Given the description of an element on the screen output the (x, y) to click on. 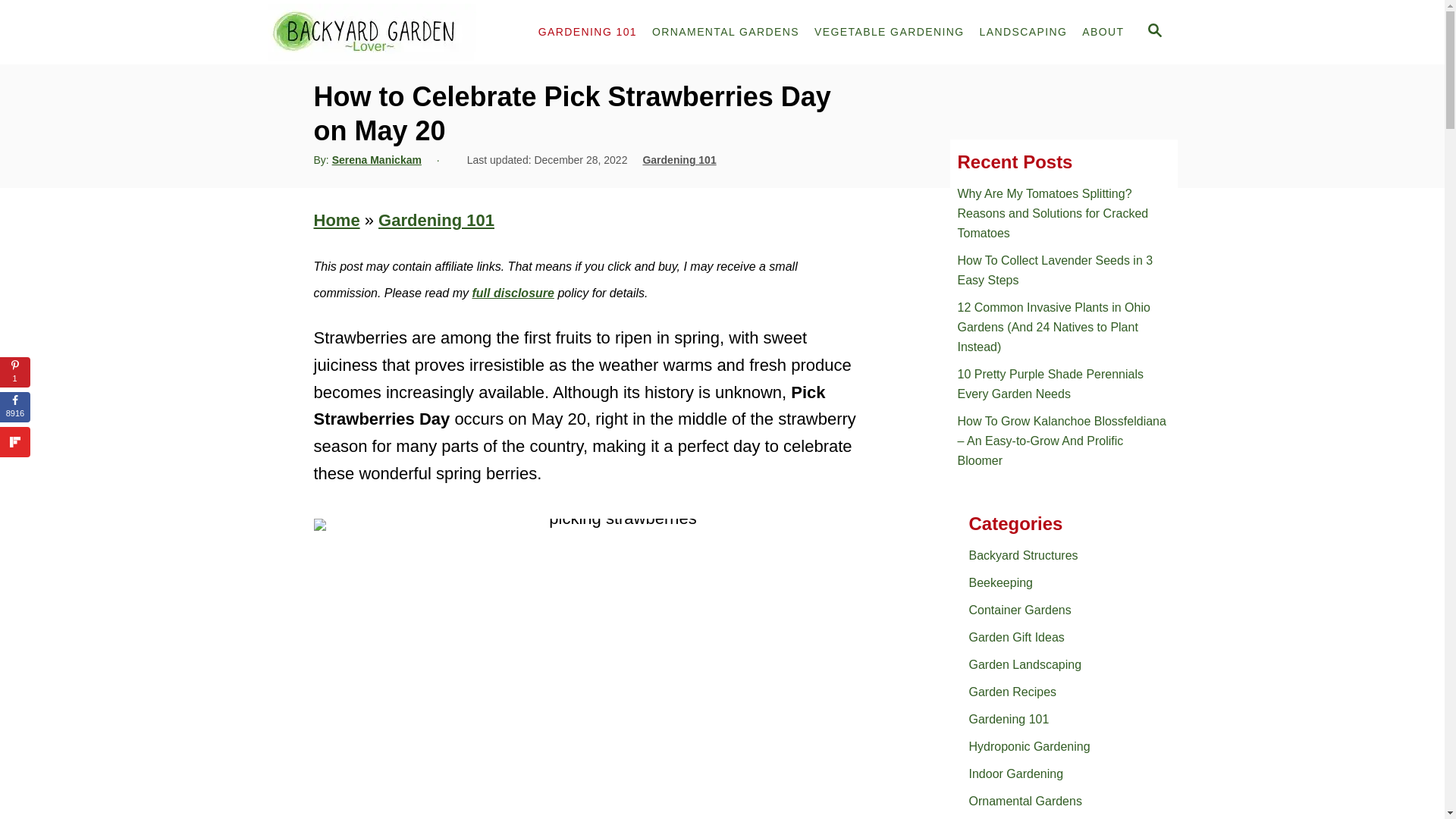
LANDSCAPING (1023, 32)
ABOUT (1102, 32)
Gardening 101 (436, 220)
SEARCH (1154, 32)
Gardening 101 (679, 159)
full disclosure (512, 292)
GARDENING 101 (588, 32)
VEGETABLE GARDENING (889, 32)
Home (336, 220)
Backyard Garden Lover (389, 32)
